Given the description of an element on the screen output the (x, y) to click on. 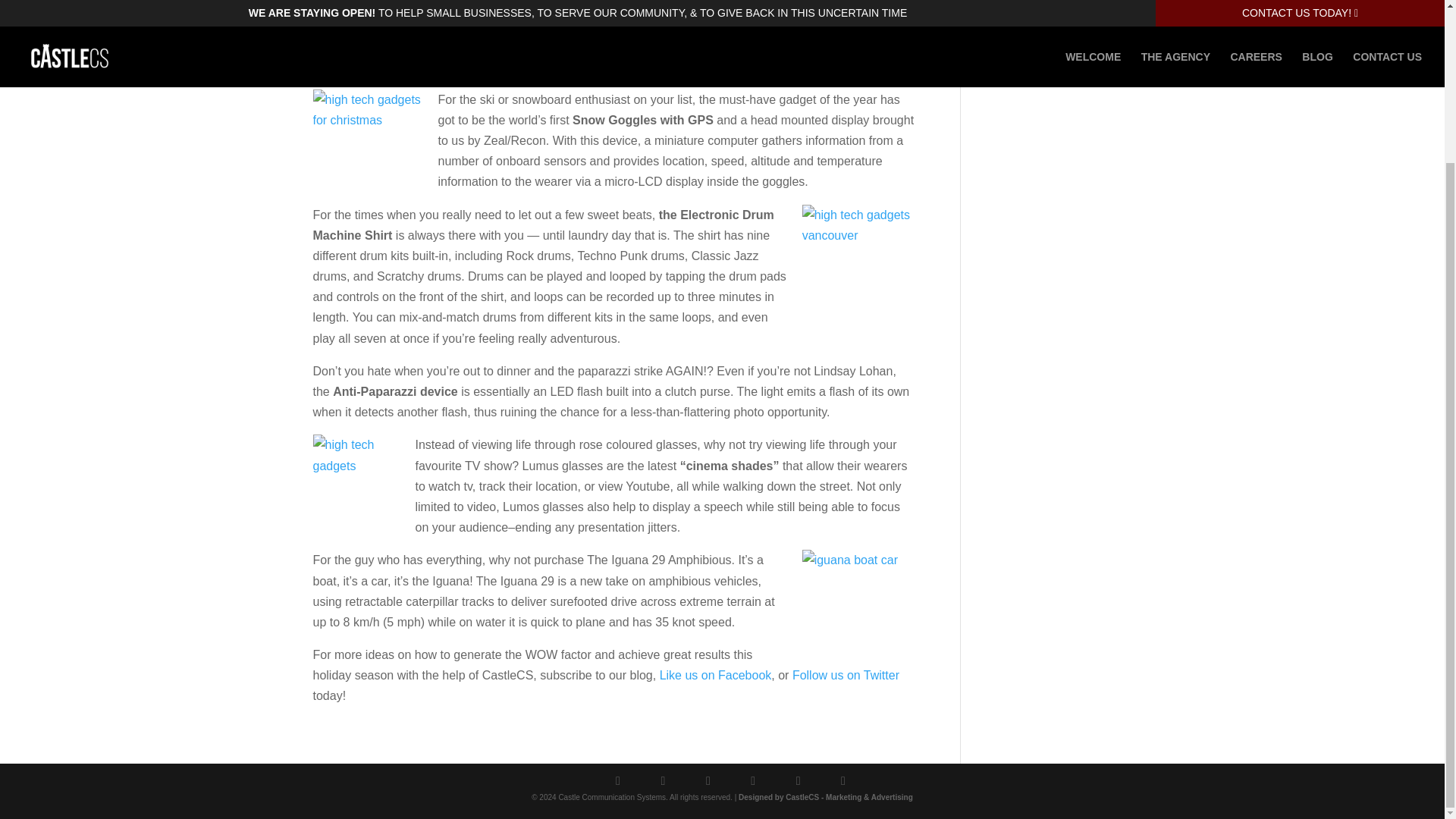
latest in technology (724, 45)
high tech gadgets vancouver (858, 261)
high tech gadgets for christmas (369, 146)
iguana boat car (858, 606)
Follow us on Twitter (845, 675)
high tech gadgets (358, 479)
Like us on Facebook (715, 675)
